Given the description of an element on the screen output the (x, y) to click on. 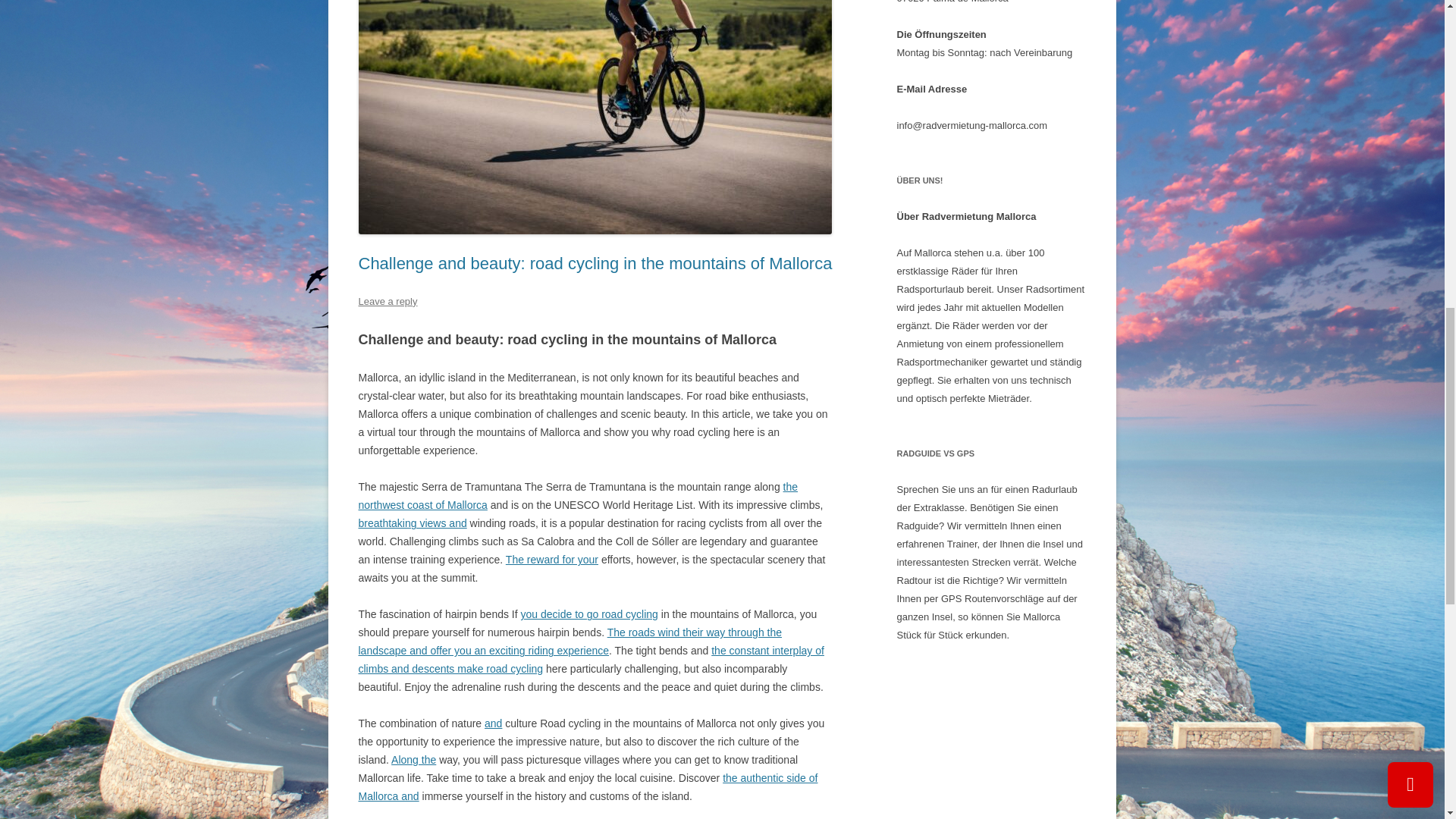
you decide to go road cycling (589, 613)
Leave a reply (387, 301)
breathtaking views and (411, 522)
and (493, 723)
the northwest coast of Mallorca (577, 495)
the authentic side of Mallorca and (587, 787)
Along the (413, 759)
The reward for your (551, 559)
